Given the description of an element on the screen output the (x, y) to click on. 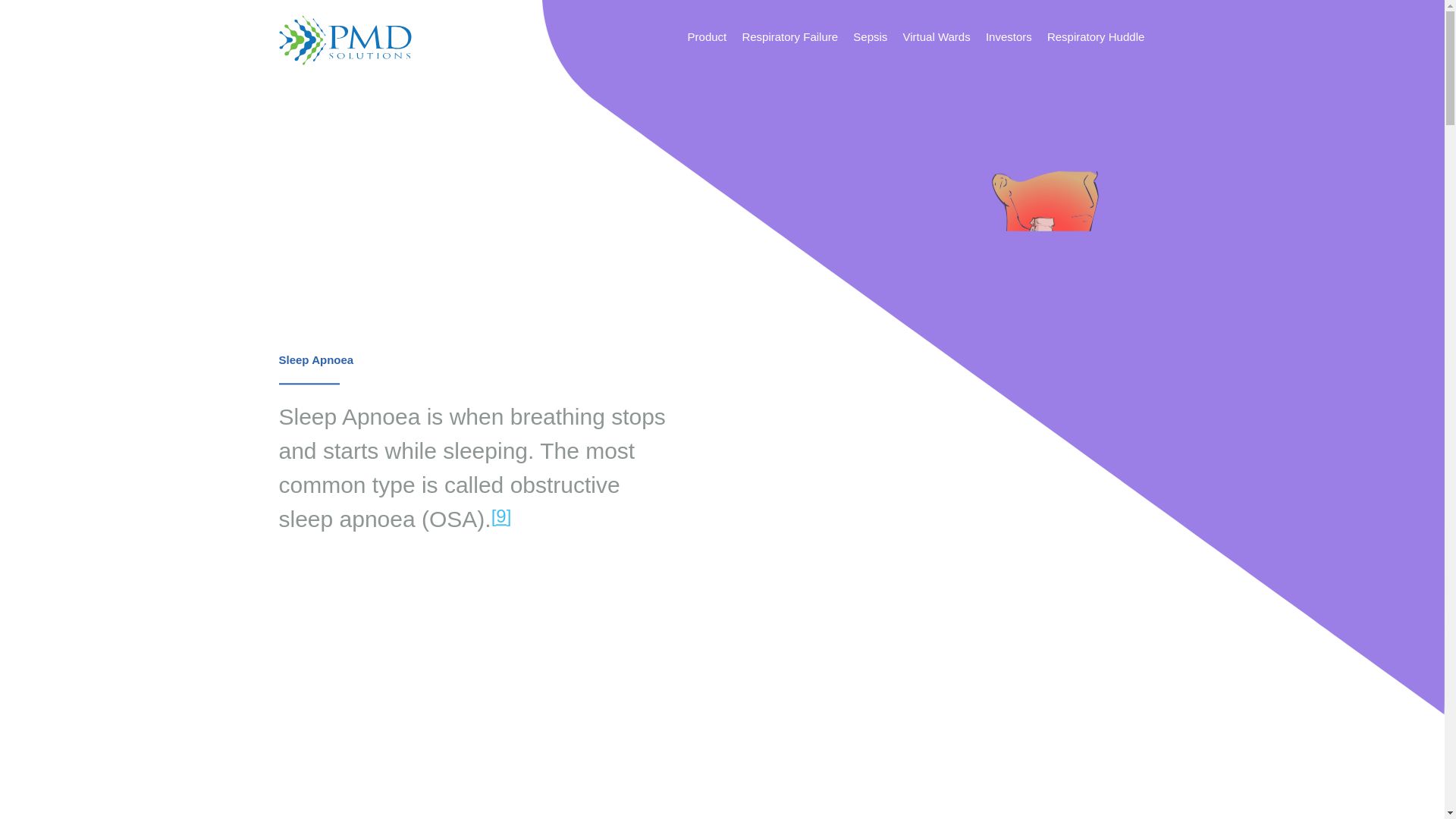
Product (706, 39)
Virtual Wards (936, 39)
Respiratory Failure (789, 39)
Investors (1008, 39)
Respiratory Huddle (1095, 39)
Sepsis (869, 39)
